Given the description of an element on the screen output the (x, y) to click on. 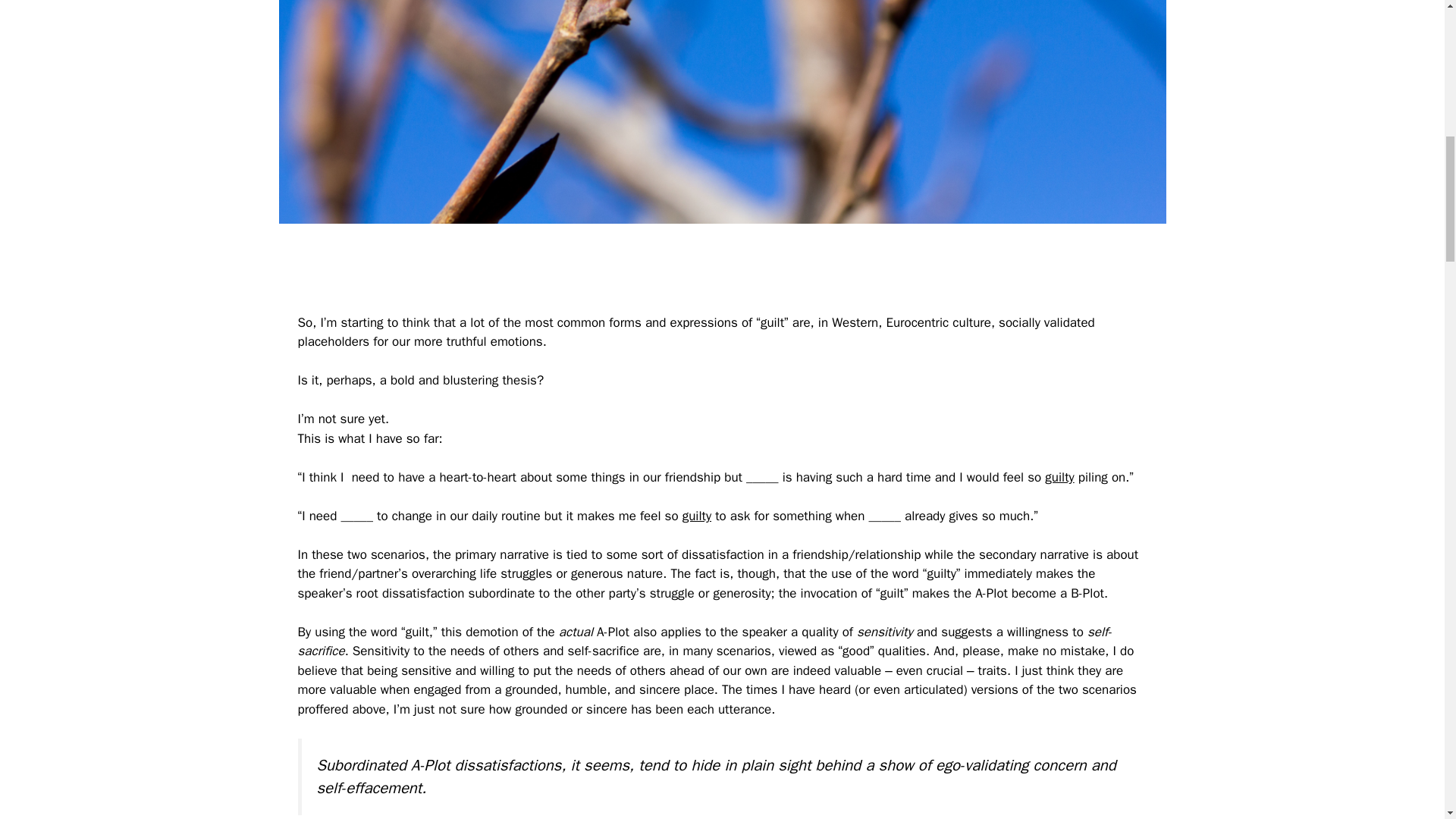
Scroll back to top (1406, 720)
